Given the description of an element on the screen output the (x, y) to click on. 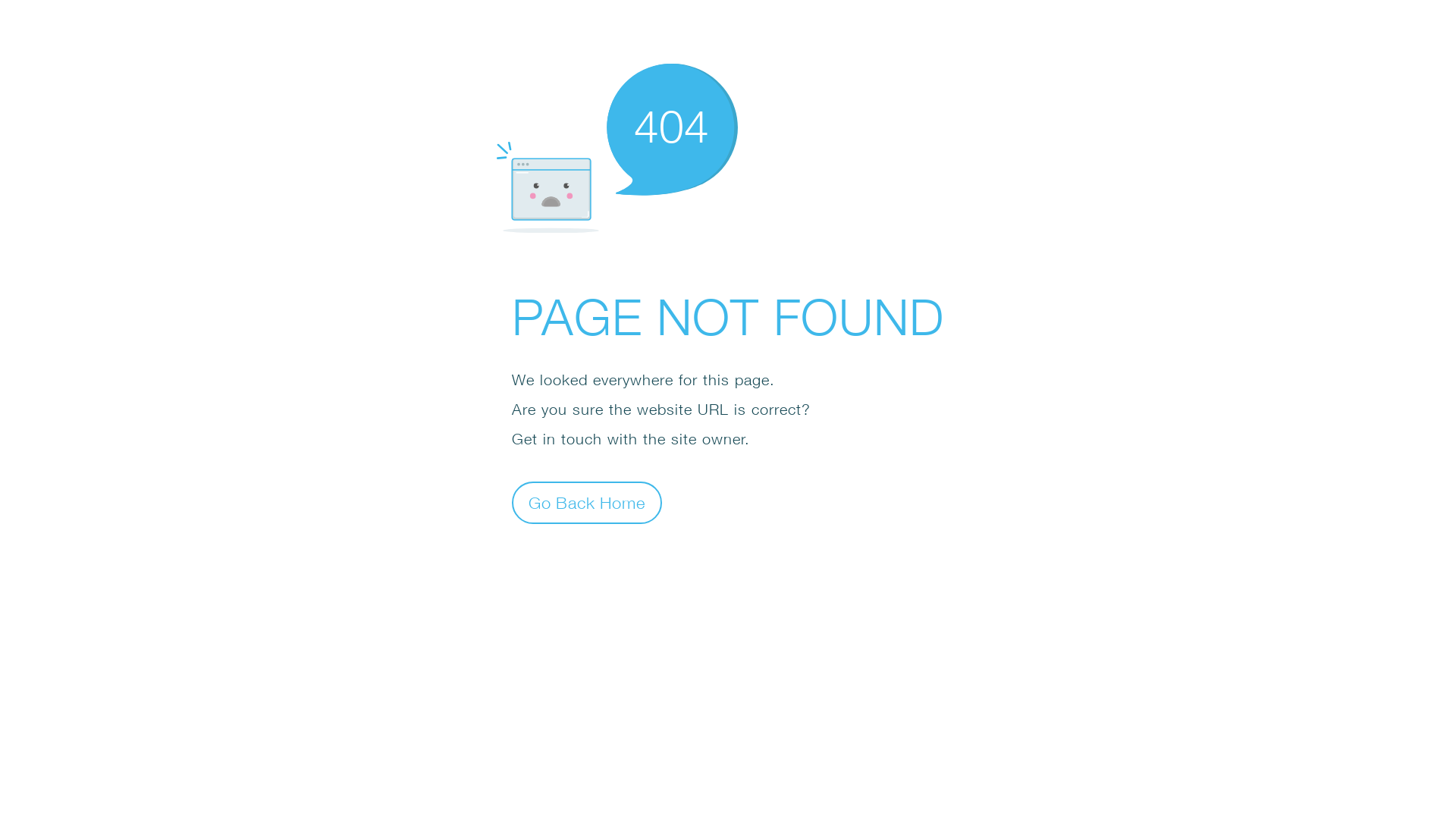
Go Back Home Element type: text (586, 502)
